Given the description of an element on the screen output the (x, y) to click on. 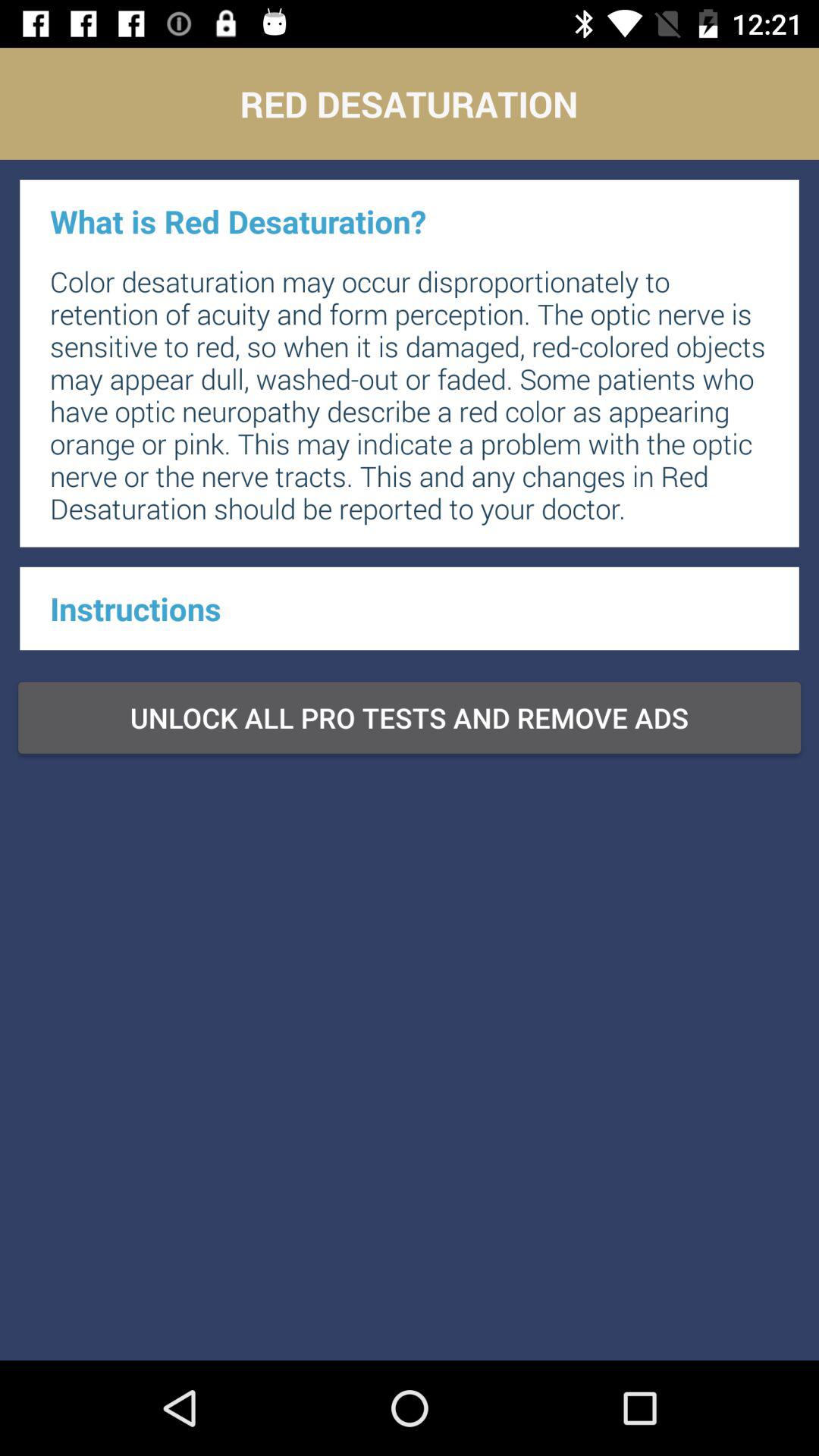
press the app below instructions app (409, 717)
